Given the description of an element on the screen output the (x, y) to click on. 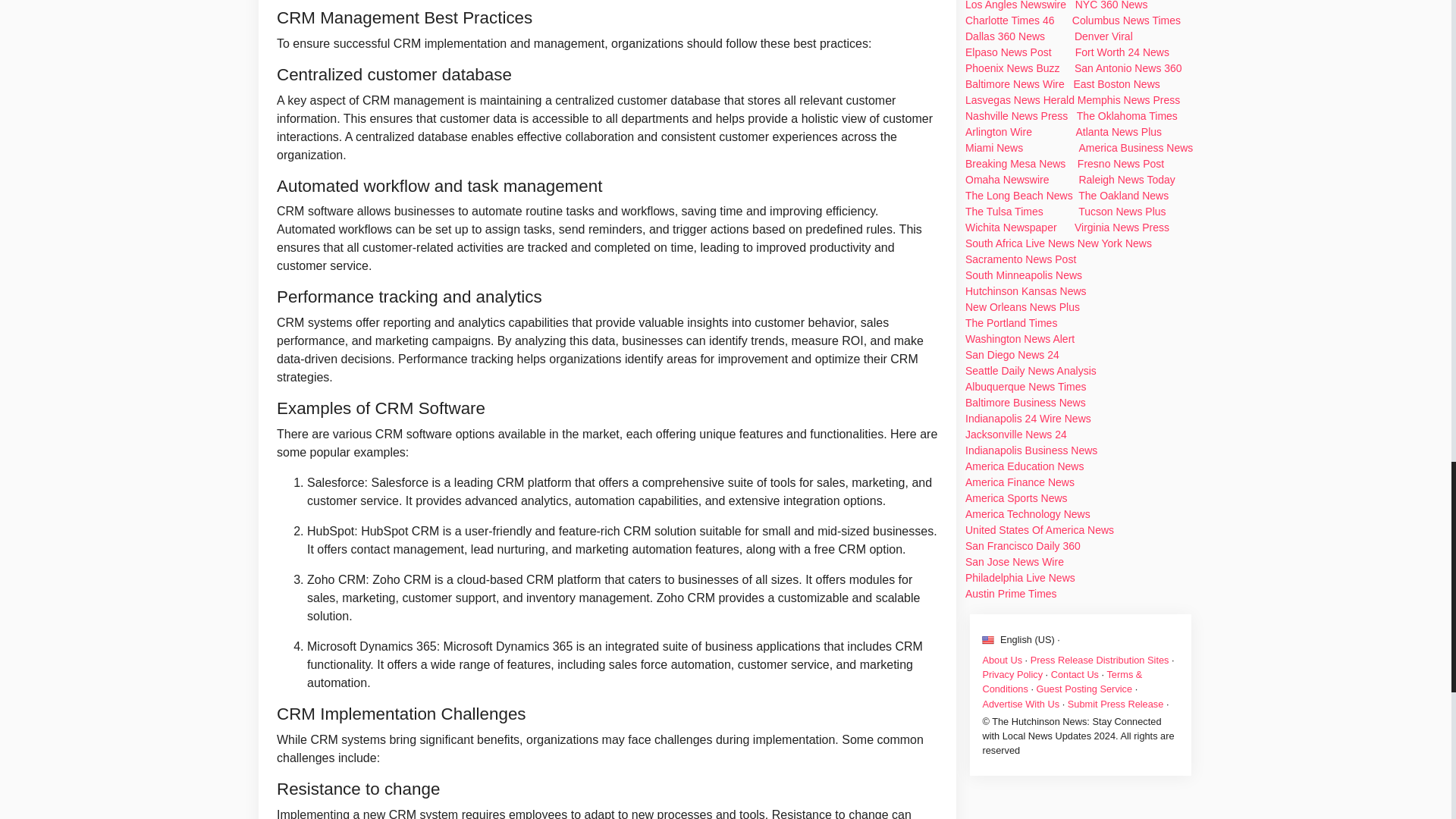
CRM software (413, 433)
